Given the description of an element on the screen output the (x, y) to click on. 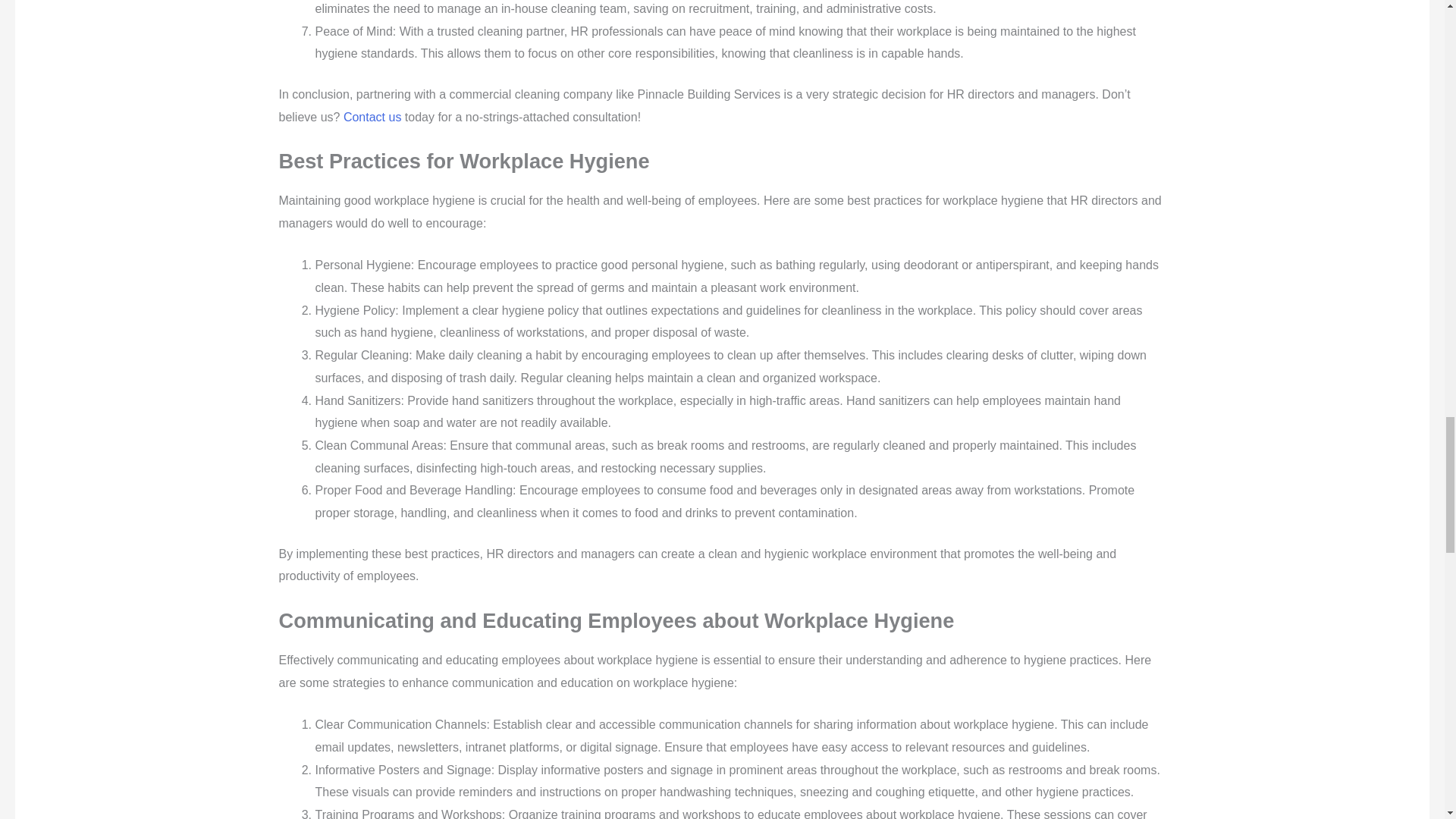
Contact us (372, 116)
Contact us (372, 116)
